Given the description of an element on the screen output the (x, y) to click on. 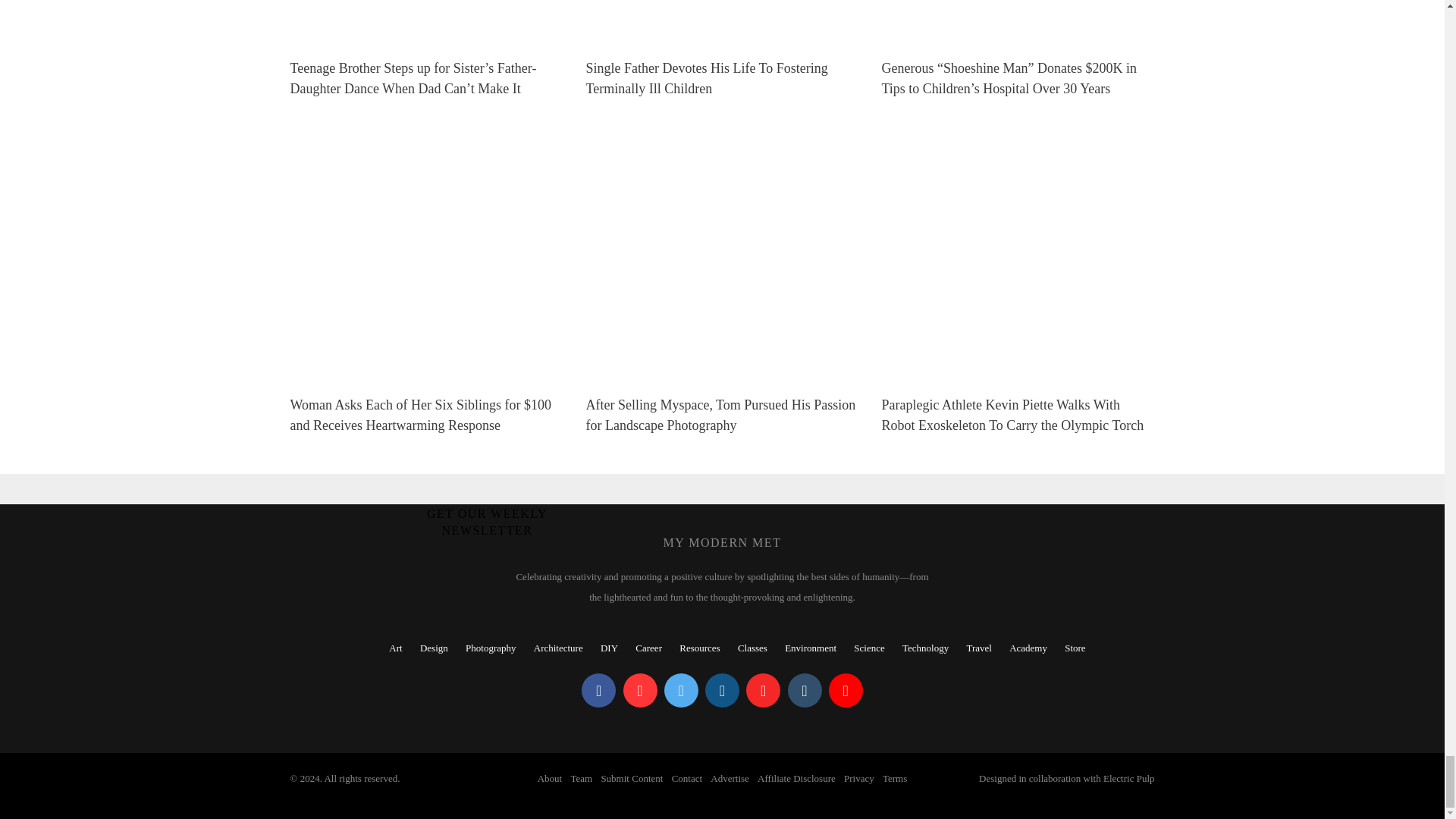
My Modern Met on Twitter (680, 690)
My Modern Met on YouTube (845, 690)
My Modern Met on Instagram (721, 690)
My Modern Met on Tumblr (804, 690)
My Modern Met on Facebook (597, 690)
My Modern Met on Pinterest (640, 690)
